Given the description of an element on the screen output the (x, y) to click on. 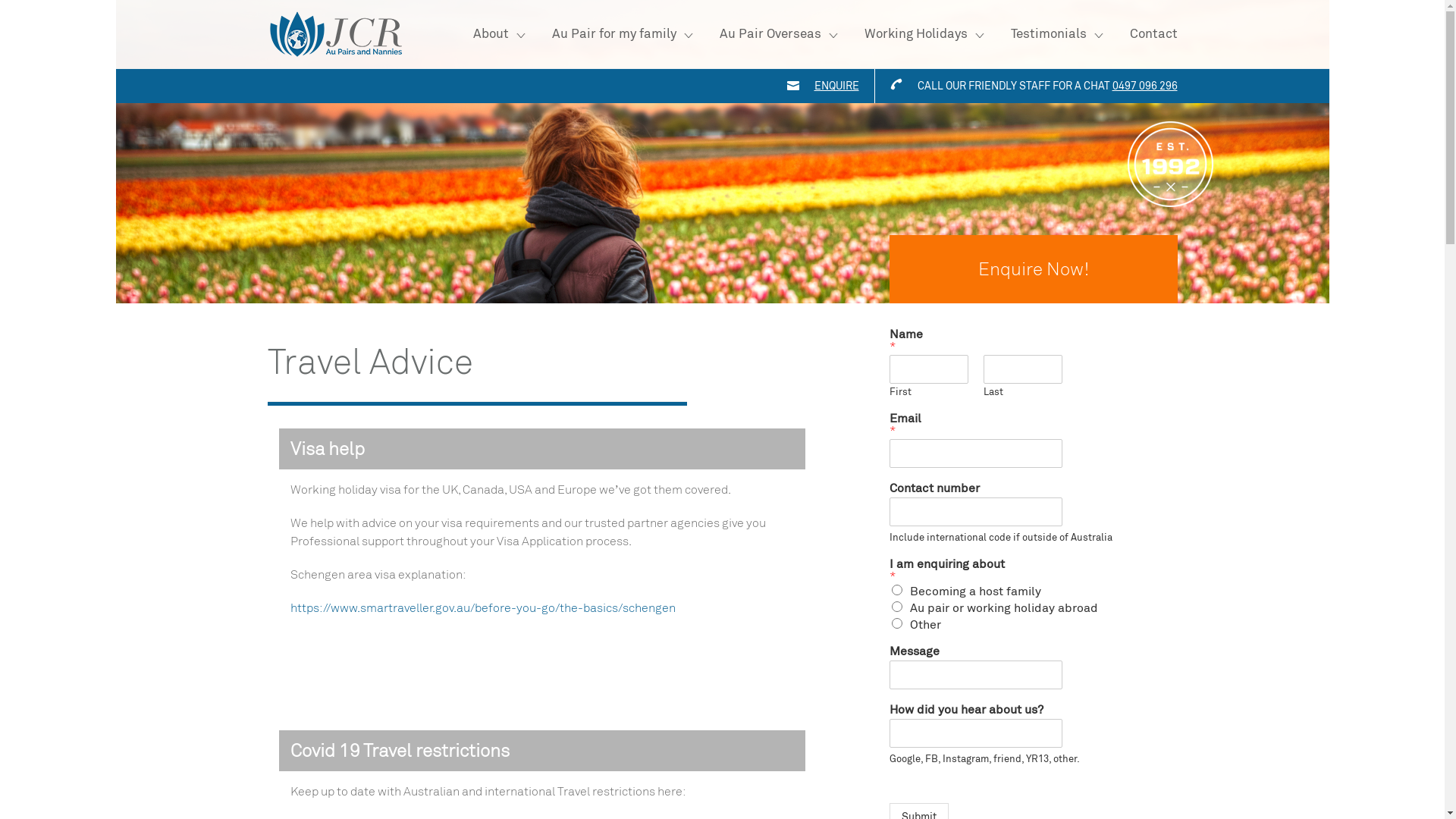
ENQUIRE Element type: text (836, 85)
Contact Element type: text (1153, 34)
0497 096 296 Element type: text (1143, 85)
